Given the description of an element on the screen output the (x, y) to click on. 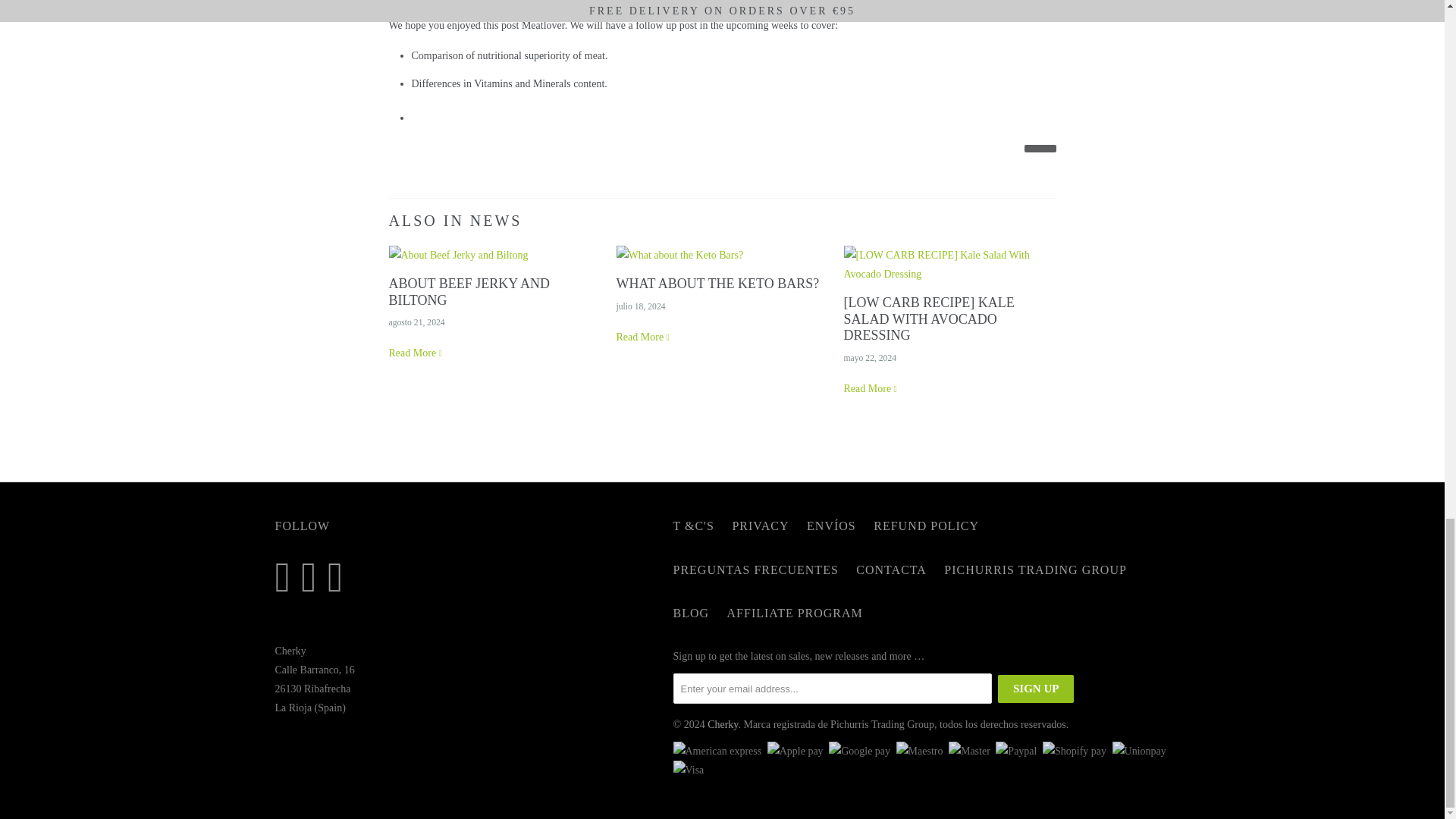
About Beef Jerky and Biltong (457, 255)
What about the Keto Bars? (643, 337)
Sign Up (1035, 688)
What about the Keto Bars? (678, 255)
About Beef Jerky and Biltong (469, 291)
About Beef Jerky and Biltong (416, 352)
What about the Keto Bars? (716, 283)
